Given the description of an element on the screen output the (x, y) to click on. 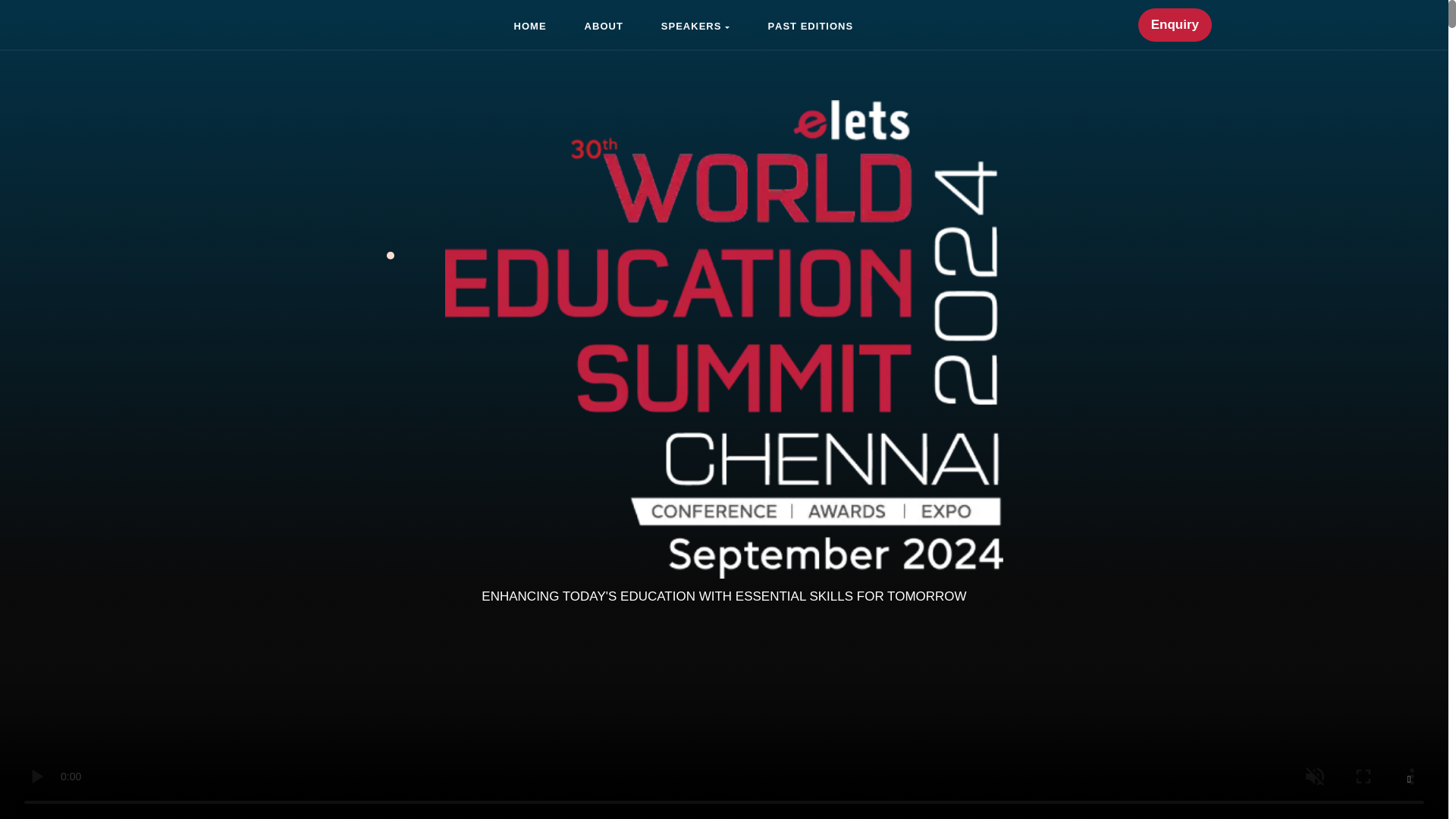
Enquiry (603, 24)
